Given the description of an element on the screen output the (x, y) to click on. 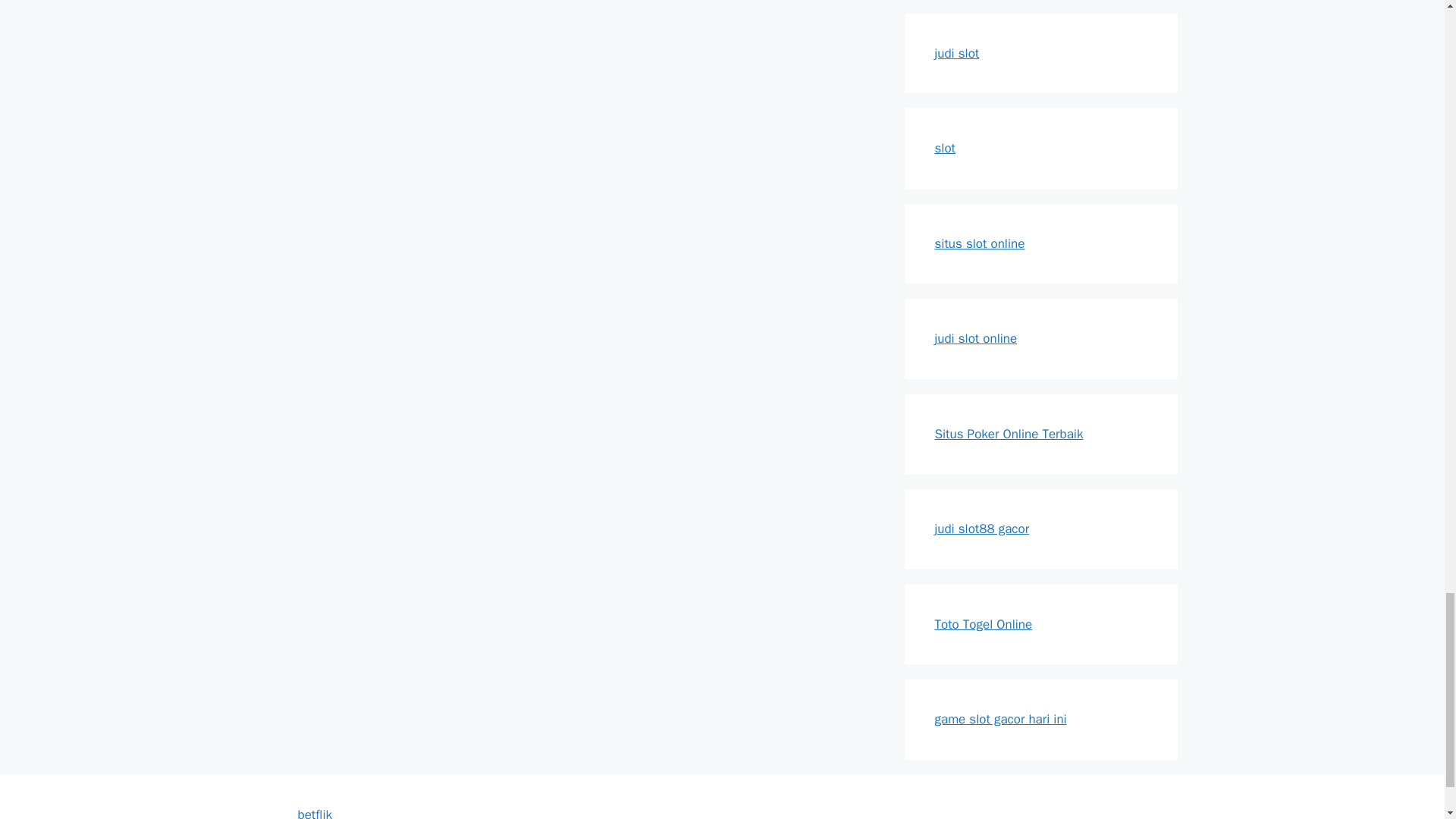
situs slot online (979, 242)
slot (944, 148)
judi slot (956, 53)
